Given the description of an element on the screen output the (x, y) to click on. 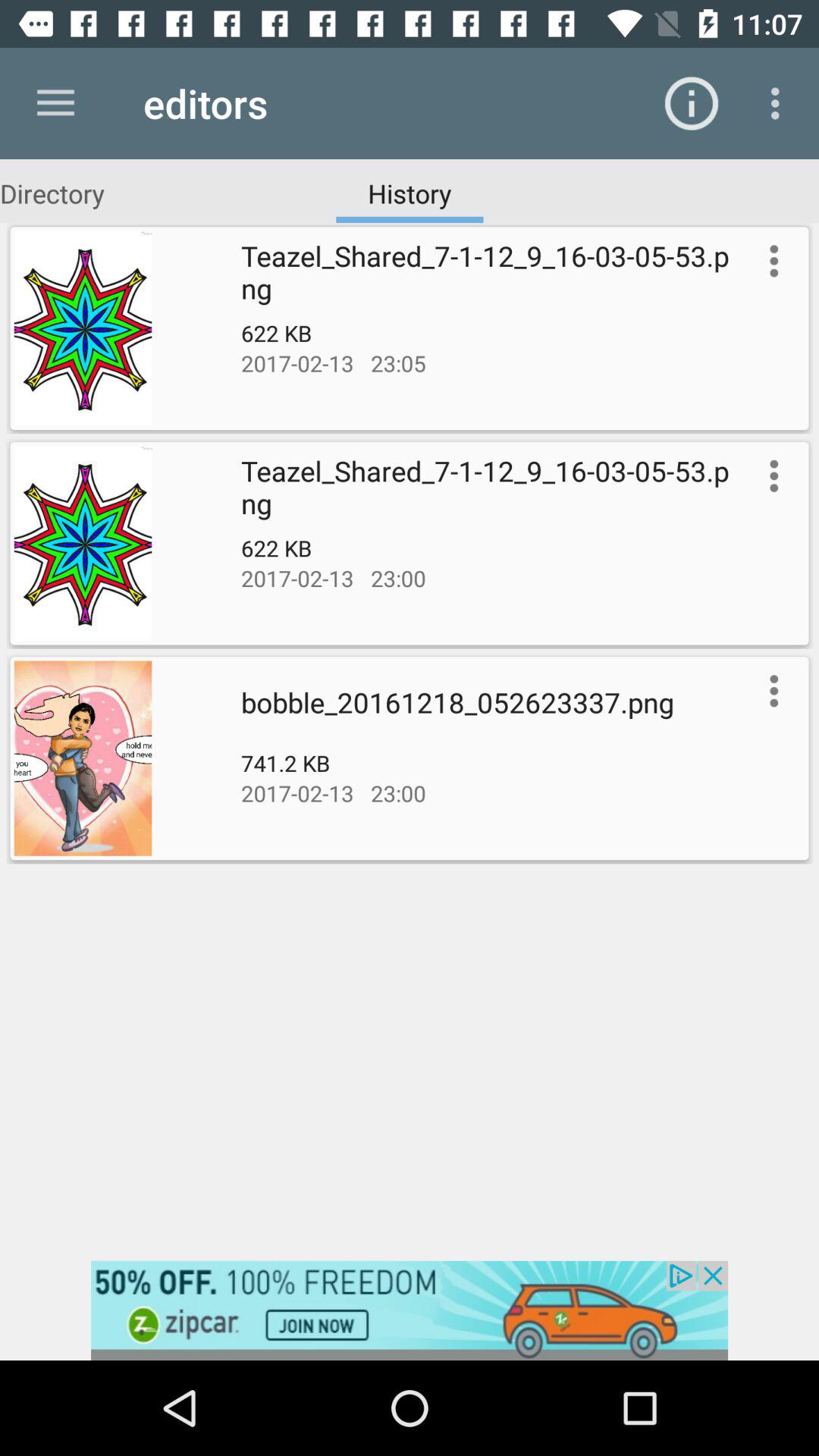
options (770, 690)
